Given the description of an element on the screen output the (x, y) to click on. 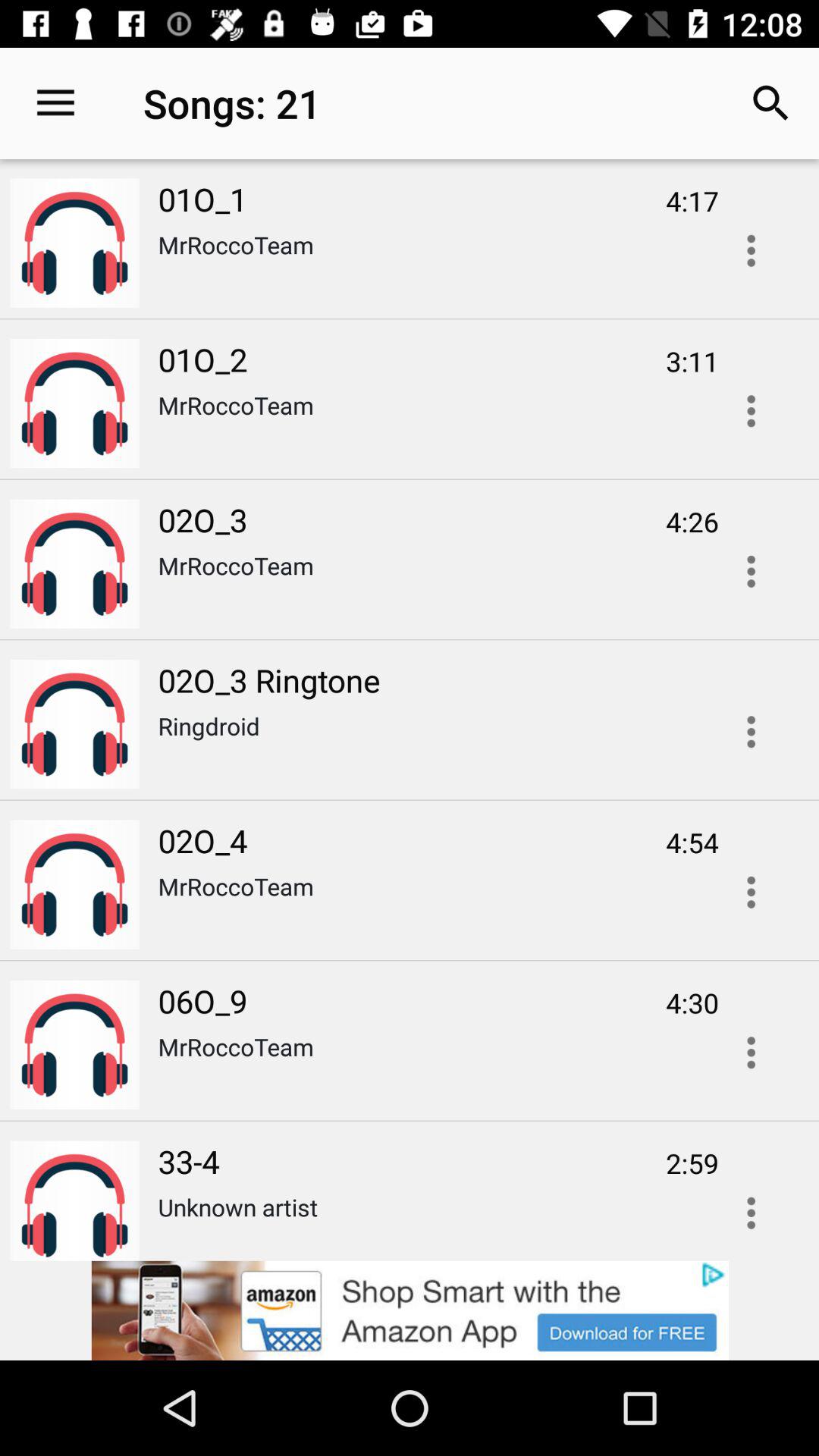
menu page (750, 410)
